Given the description of an element on the screen output the (x, y) to click on. 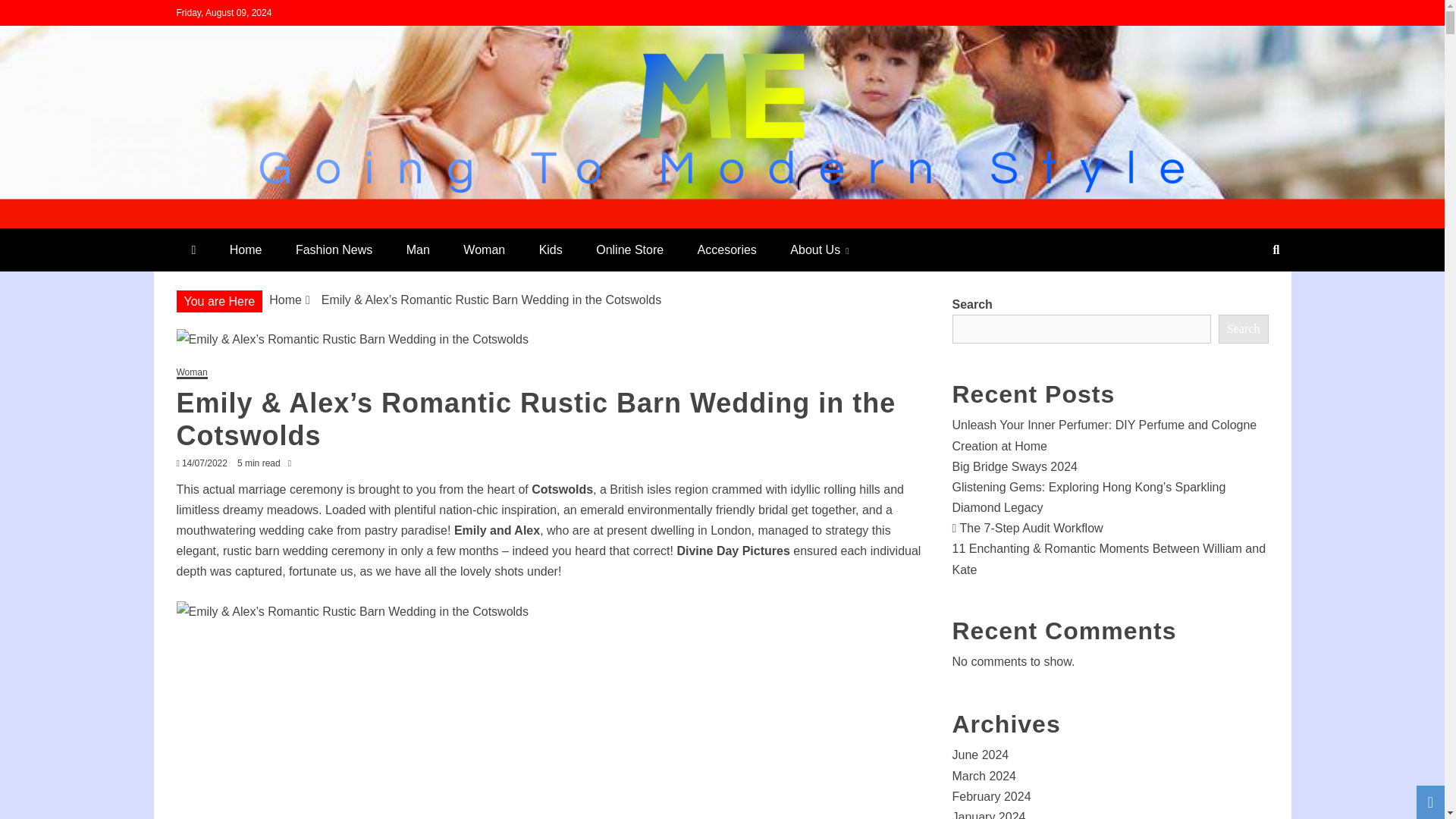
Search (31, 13)
About Us (818, 249)
Accesories (726, 249)
Woman (191, 373)
Man (418, 249)
Woman (483, 249)
Home (285, 299)
My Style (234, 221)
Fashion News (334, 249)
Home (246, 249)
